Given the description of an element on the screen output the (x, y) to click on. 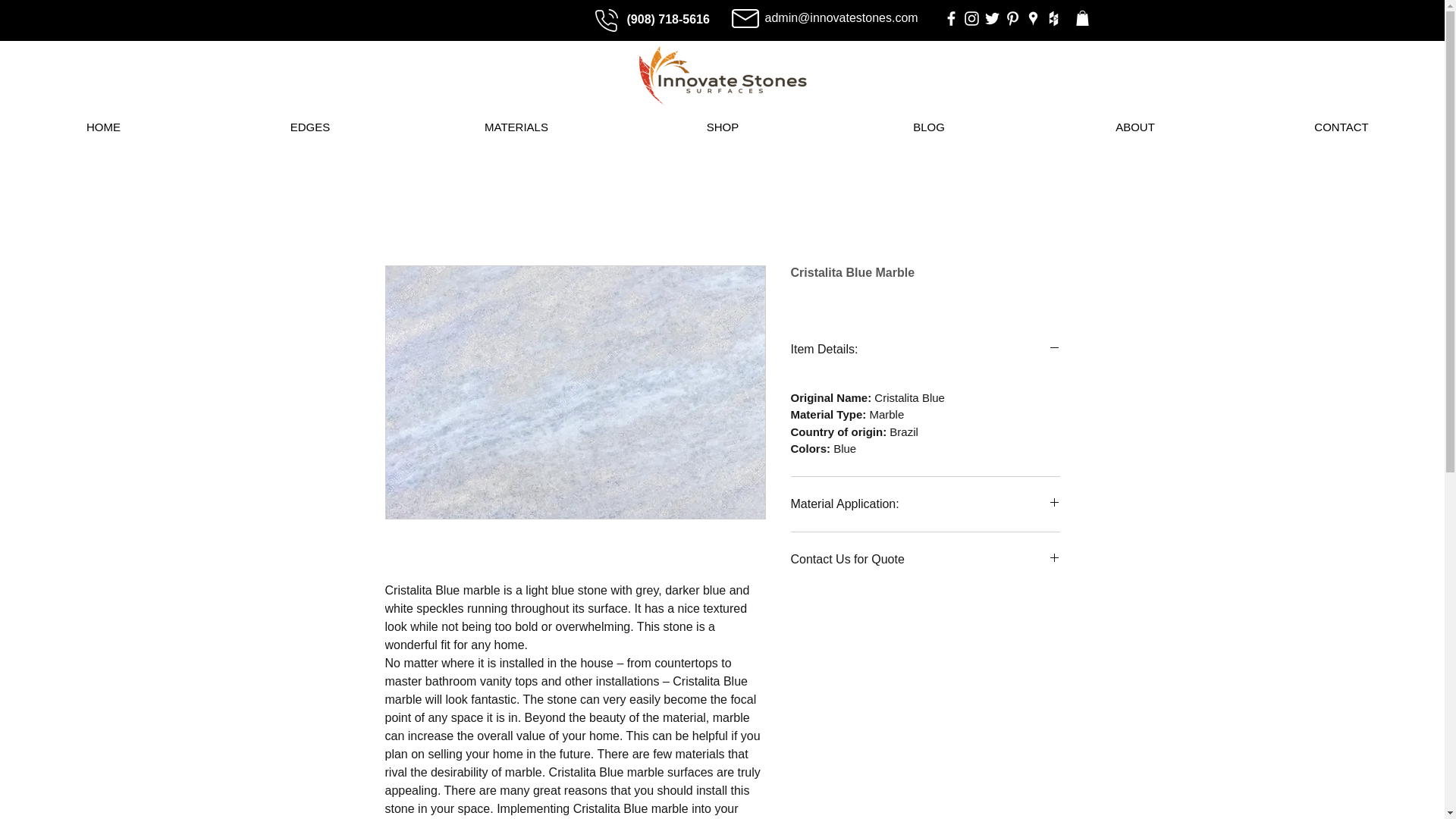
Contact Us for Quote (924, 559)
MATERIALS (516, 127)
ABOUT (1135, 127)
SHOP (722, 127)
HOME (103, 127)
Material Application: (924, 504)
Item Details: (924, 349)
BLOG (928, 127)
EDGES (309, 127)
